Given the description of an element on the screen output the (x, y) to click on. 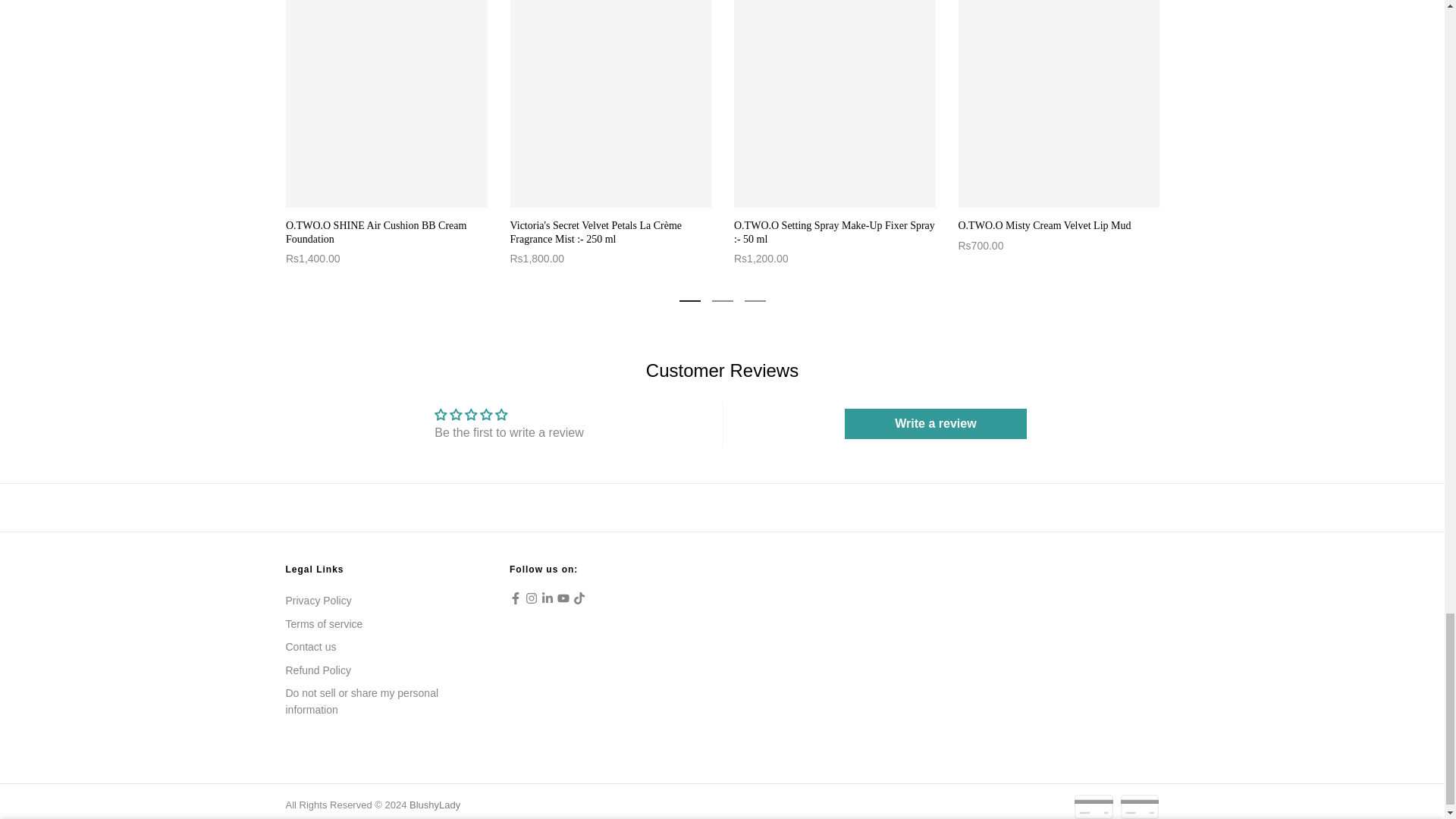
Follow on YouTube (563, 598)
Follow on Facebook (515, 598)
Follow on Instagram (531, 598)
Follow on Linkedin (547, 598)
Follow on Tiktok (579, 598)
